Given the description of an element on the screen output the (x, y) to click on. 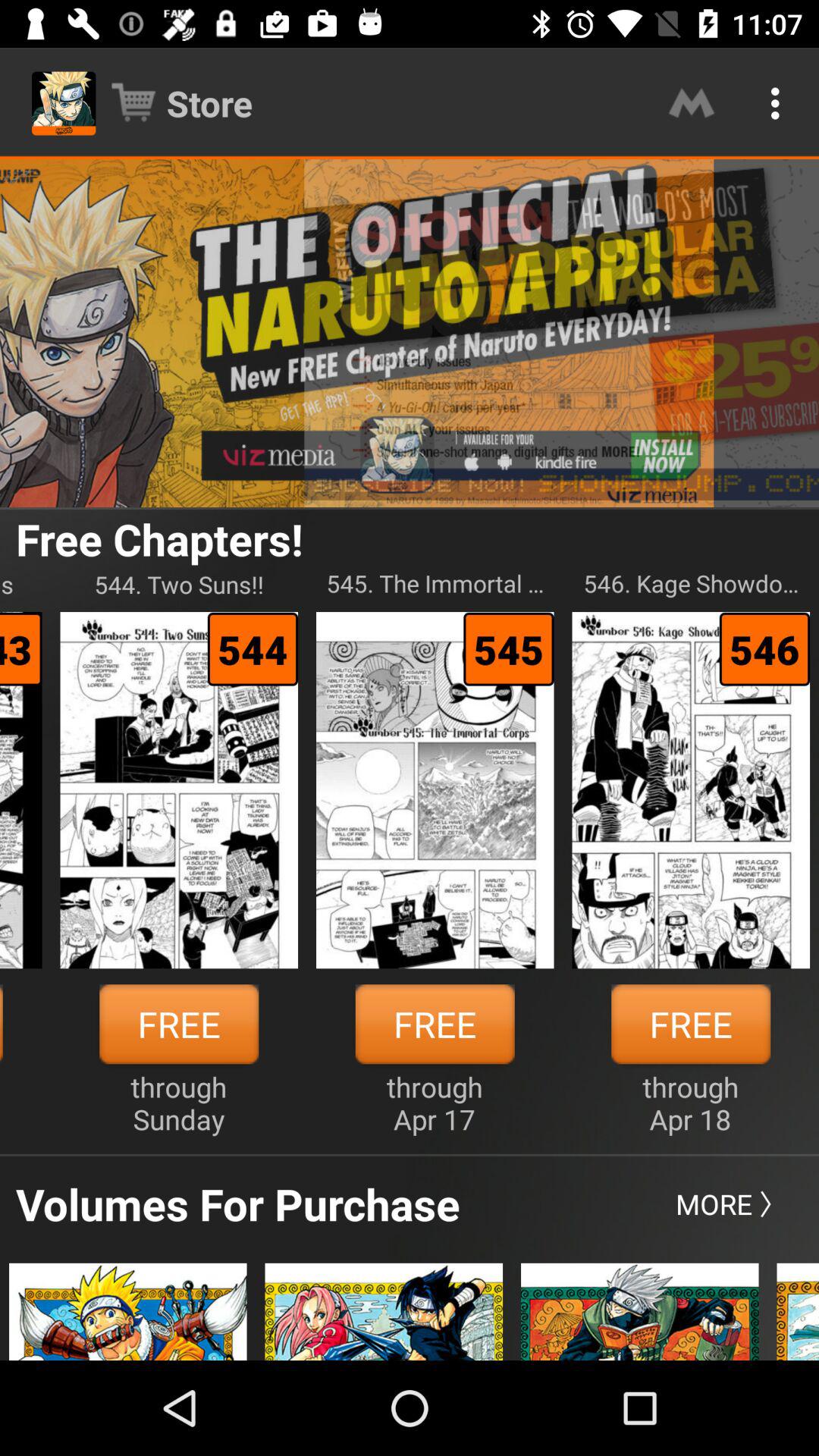
jump until 545 the immortal (435, 584)
